Given the description of an element on the screen output the (x, y) to click on. 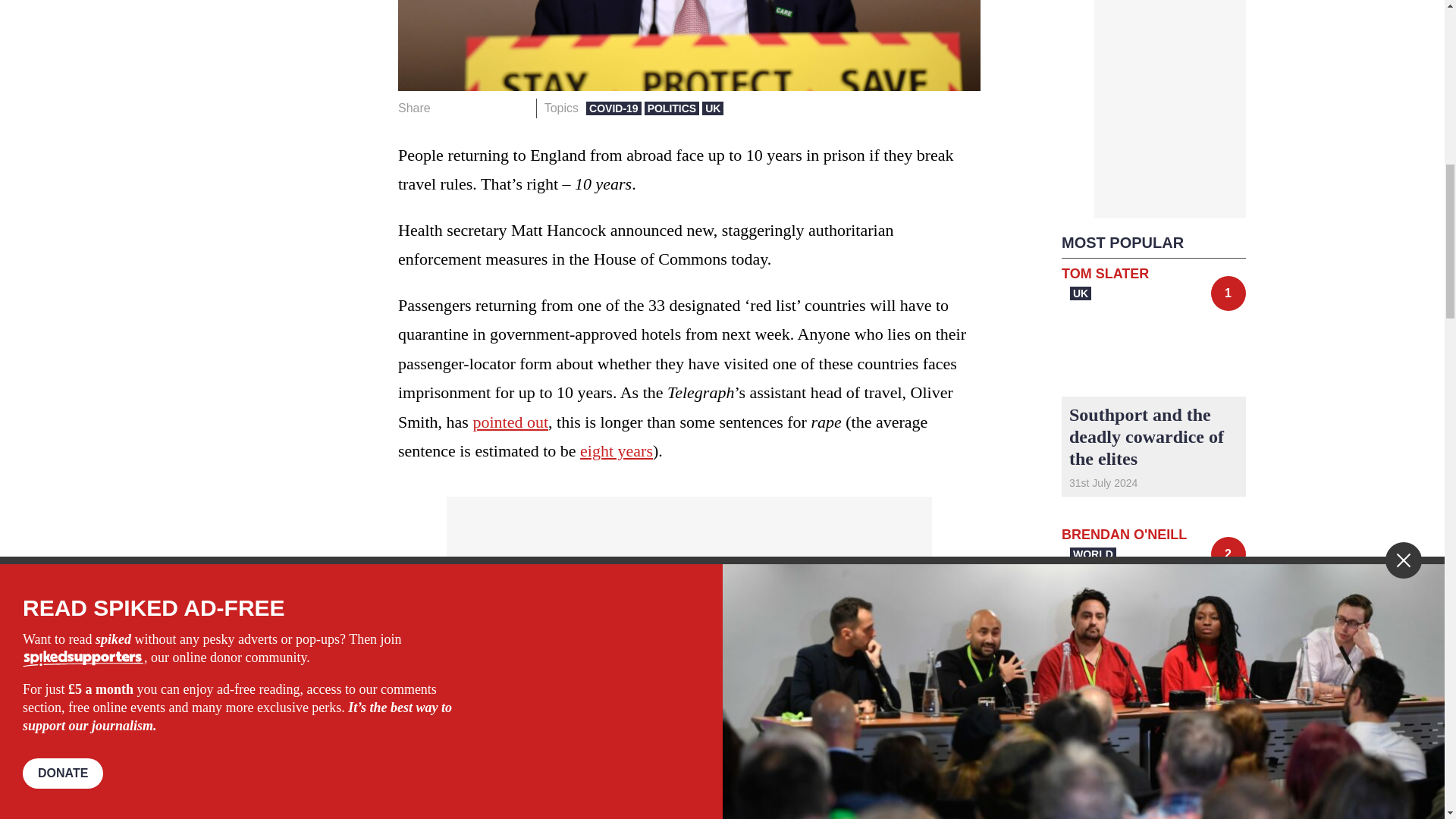
Share on Whatsapp (494, 107)
Share on Twitter (471, 107)
Share on Email (518, 107)
Share on Facebook (448, 107)
